Given the description of an element on the screen output the (x, y) to click on. 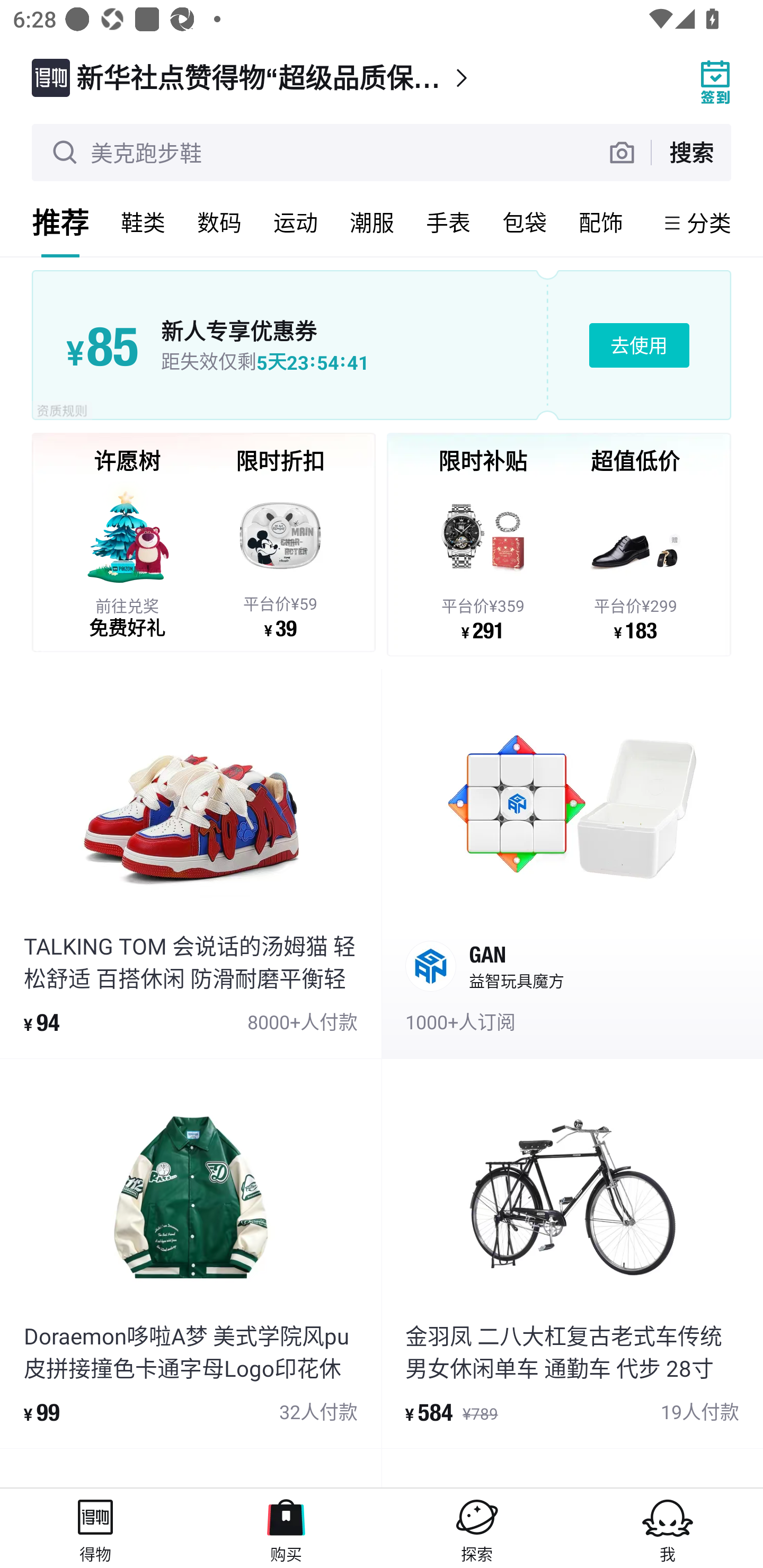
搜索 (690, 152)
推荐 (60, 222)
鞋类 (143, 222)
数码 (219, 222)
运动 (295, 222)
潮服 (372, 222)
手表 (448, 222)
包袋 (524, 222)
配饰 (601, 222)
分类 (708, 222)
平台价¥59 ¥ 39 (279, 559)
前往兑奖 免费好礼 (127, 559)
平台价¥359 ¥ 291 (482, 560)
平台价¥299 ¥ 183 (635, 560)
GAN 益智玩具魔方 1000+人订阅 (572, 863)
得物 (95, 1528)
购买 (285, 1528)
探索 (476, 1528)
我 (667, 1528)
